Given the description of an element on the screen output the (x, y) to click on. 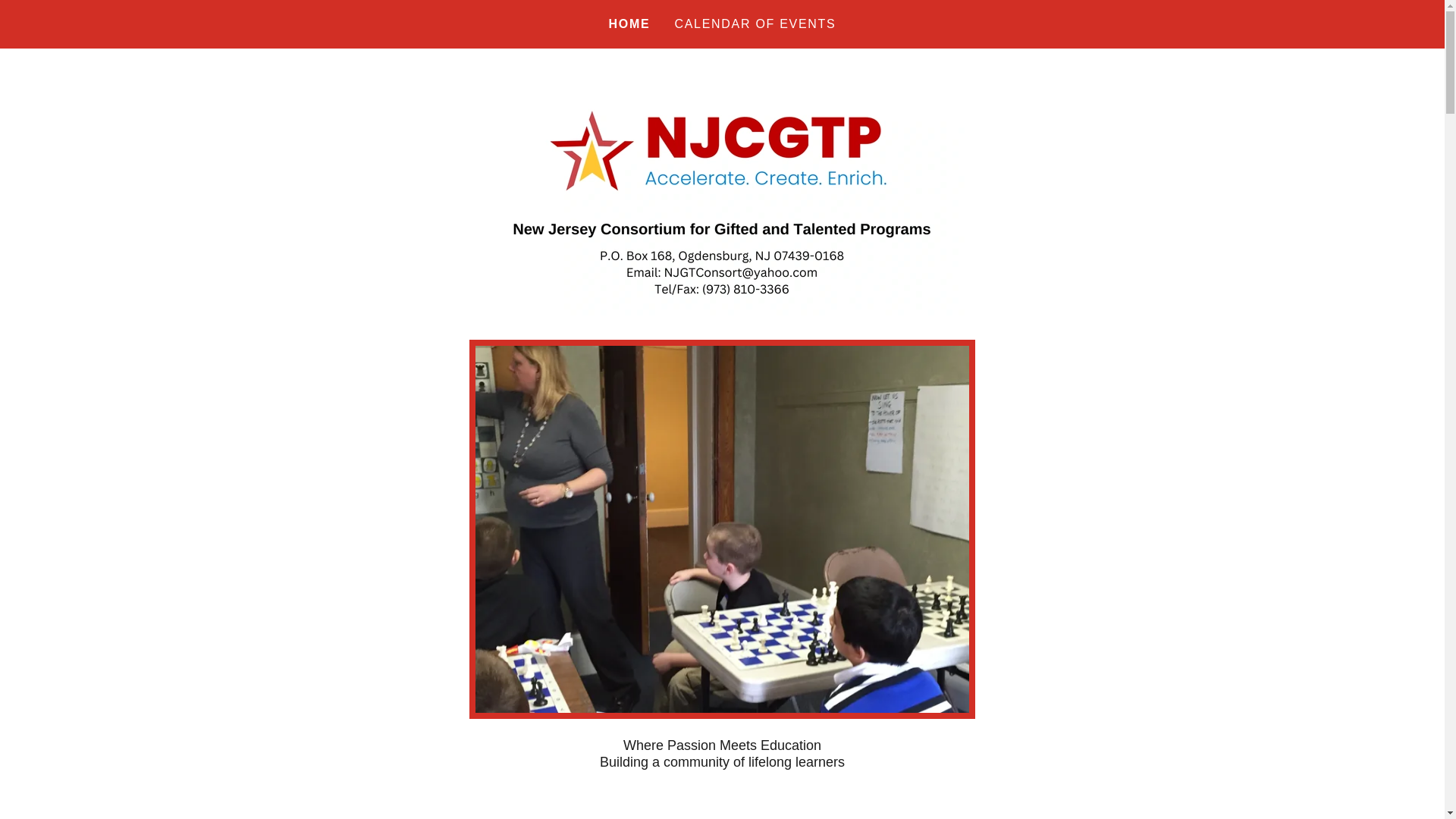
New Jersey Consortium for Gifted and Talented Programs (721, 192)
CALENDAR OF EVENTS (754, 23)
HOME (629, 24)
